Given the description of an element on the screen output the (x, y) to click on. 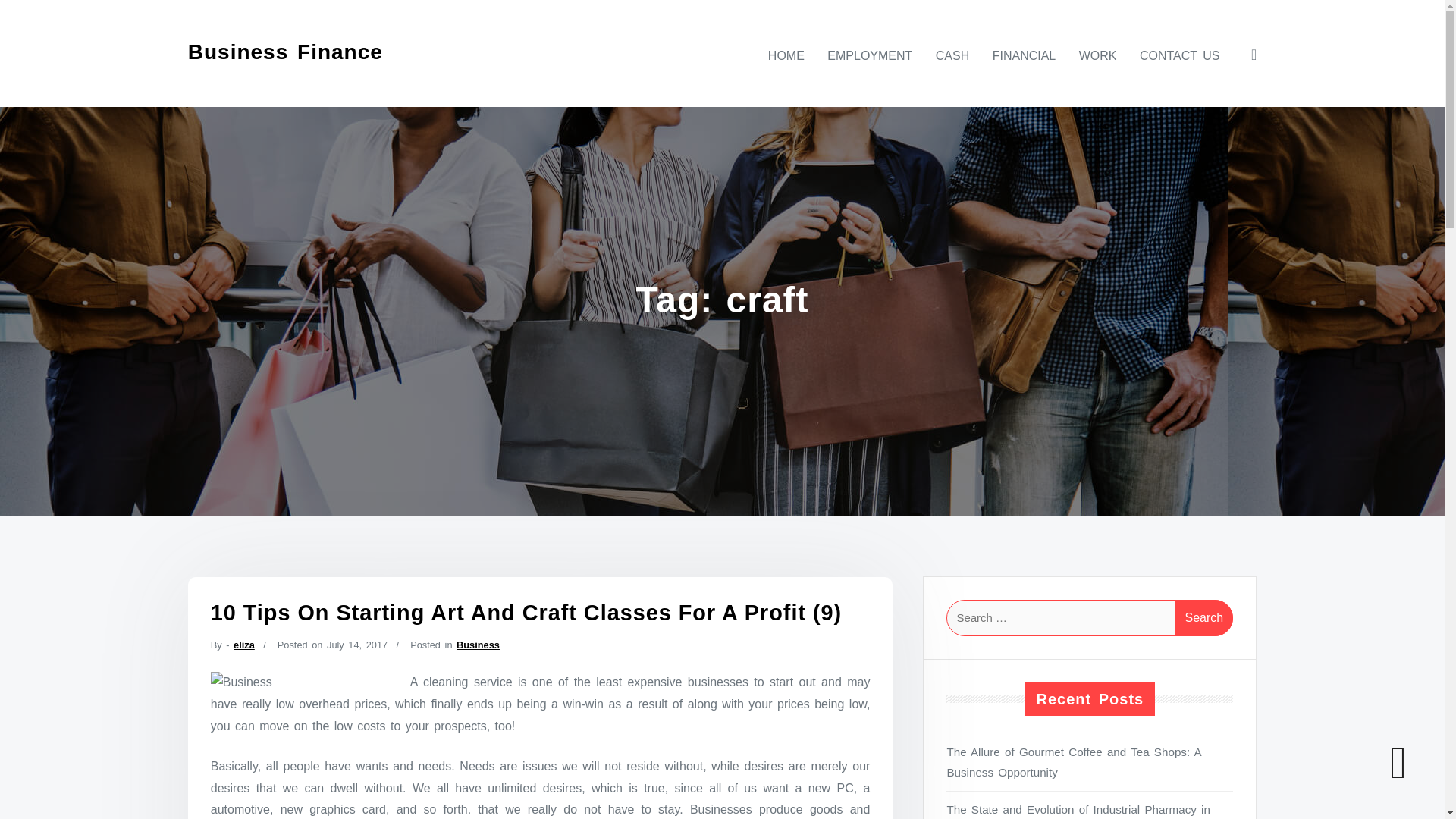
eliza (243, 644)
HOME (785, 55)
WORK (1097, 55)
CONTACT US (1179, 55)
Search (1203, 617)
Search (1203, 617)
CASH (952, 55)
EMPLOYMENT (869, 55)
Search (1203, 617)
